Given the description of an element on the screen output the (x, y) to click on. 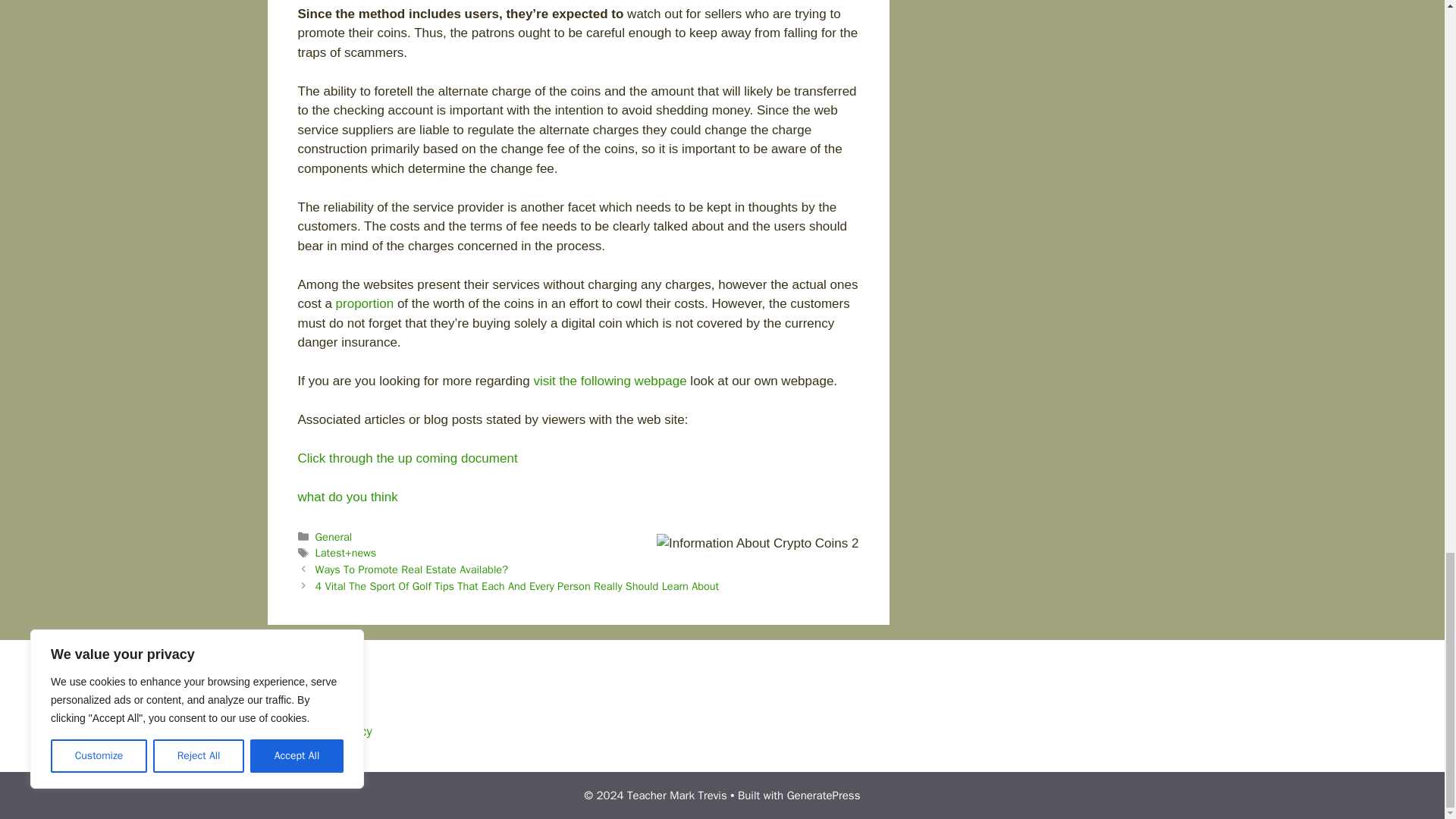
proportion (365, 303)
General (333, 536)
Click through the up coming document (406, 458)
visit the following webpage (608, 380)
what do you think (347, 496)
Ways To Promote Real Estate Available? (411, 569)
